Given the description of an element on the screen output the (x, y) to click on. 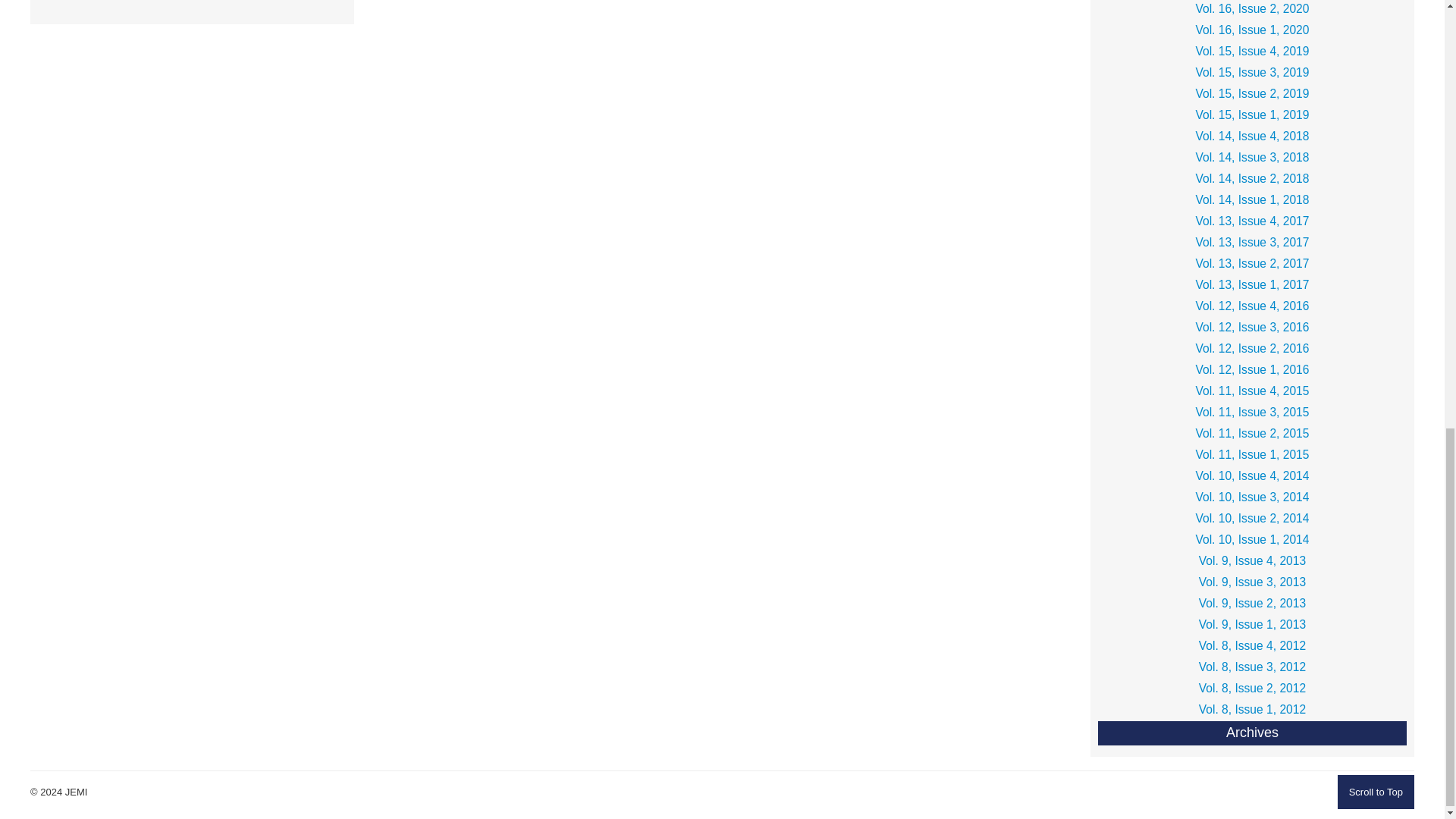
Vol. 15, Issue 2, 2019 (1251, 94)
Vol. 16, Issue 2, 2020 (1251, 9)
Vol. 15, Issue 1, 2019 (1251, 115)
Vol. 14, Issue 3, 2018 (1251, 157)
Vol. 15, Issue 4, 2019 (1251, 51)
Vol. 15, Issue 3, 2019 (1251, 72)
Vol. 16, Issue 1, 2020 (1251, 30)
Vol. 14, Issue 4, 2018 (1251, 136)
